Given the description of an element on the screen output the (x, y) to click on. 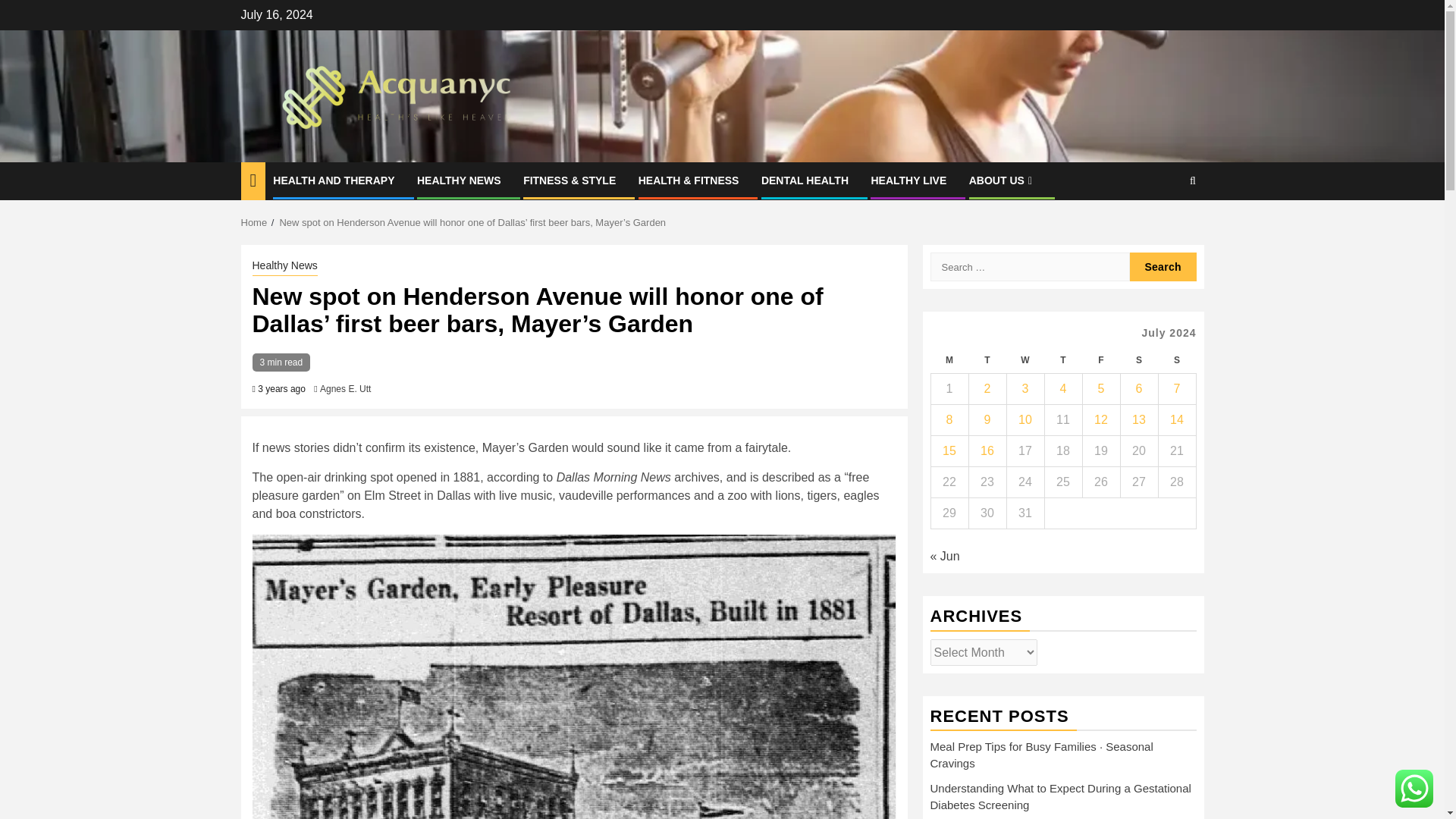
HEALTH AND THERAPY (333, 180)
DENTAL HEALTH (804, 180)
HEALTHY NEWS (458, 180)
Agnes E. Utt (345, 388)
Wednesday (1024, 360)
Tuesday (987, 360)
Search (1162, 266)
Healthy News (284, 266)
Thursday (1062, 360)
Search (1163, 226)
Monday (949, 360)
ABOUT US (1002, 180)
Home (254, 222)
Search (1162, 266)
Friday (1100, 360)
